Given the description of an element on the screen output the (x, y) to click on. 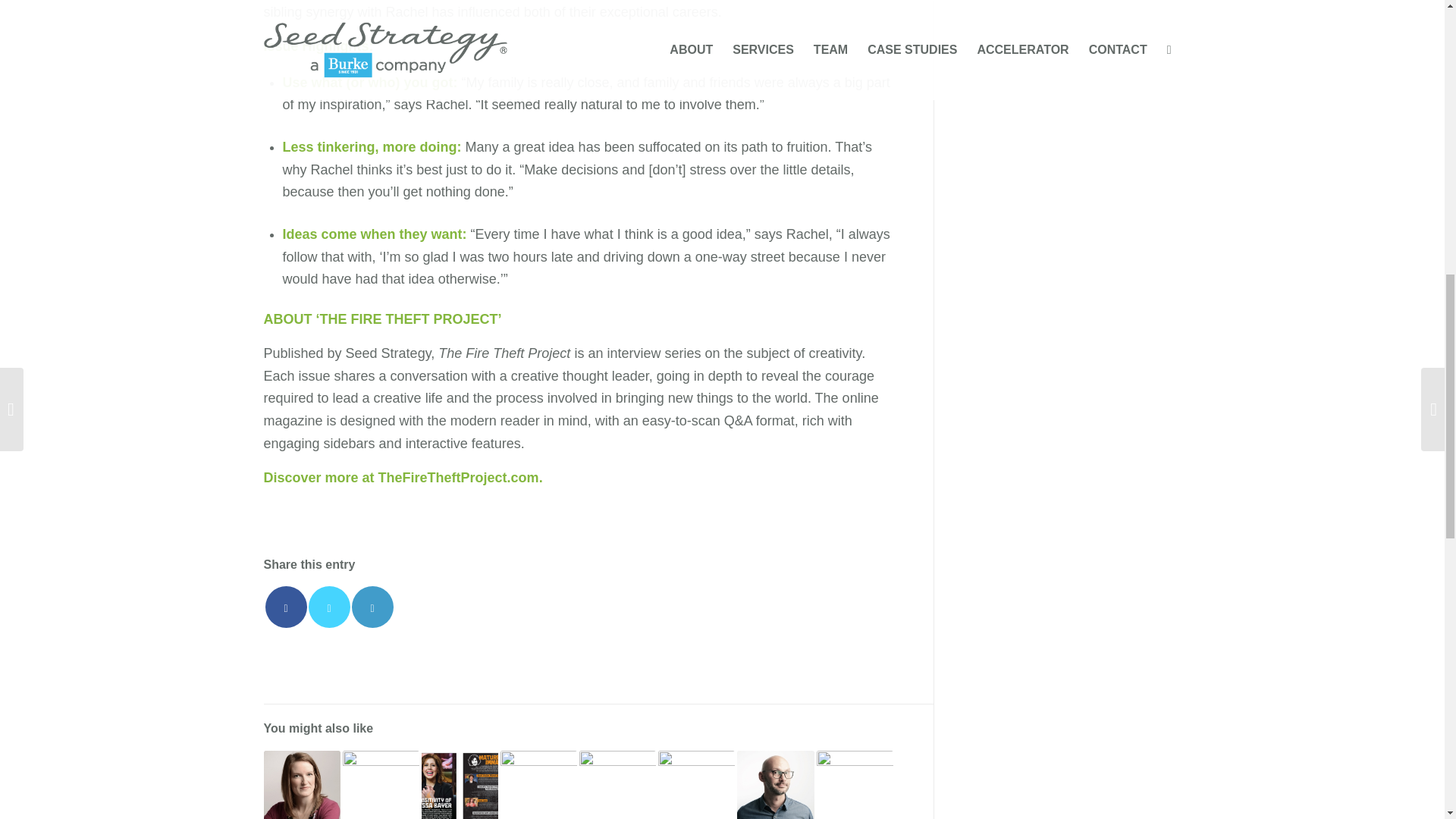
TheFireTheftProject.com (458, 477)
Schleicher Promoted to Creative Director (301, 785)
